Given the description of an element on the screen output the (x, y) to click on. 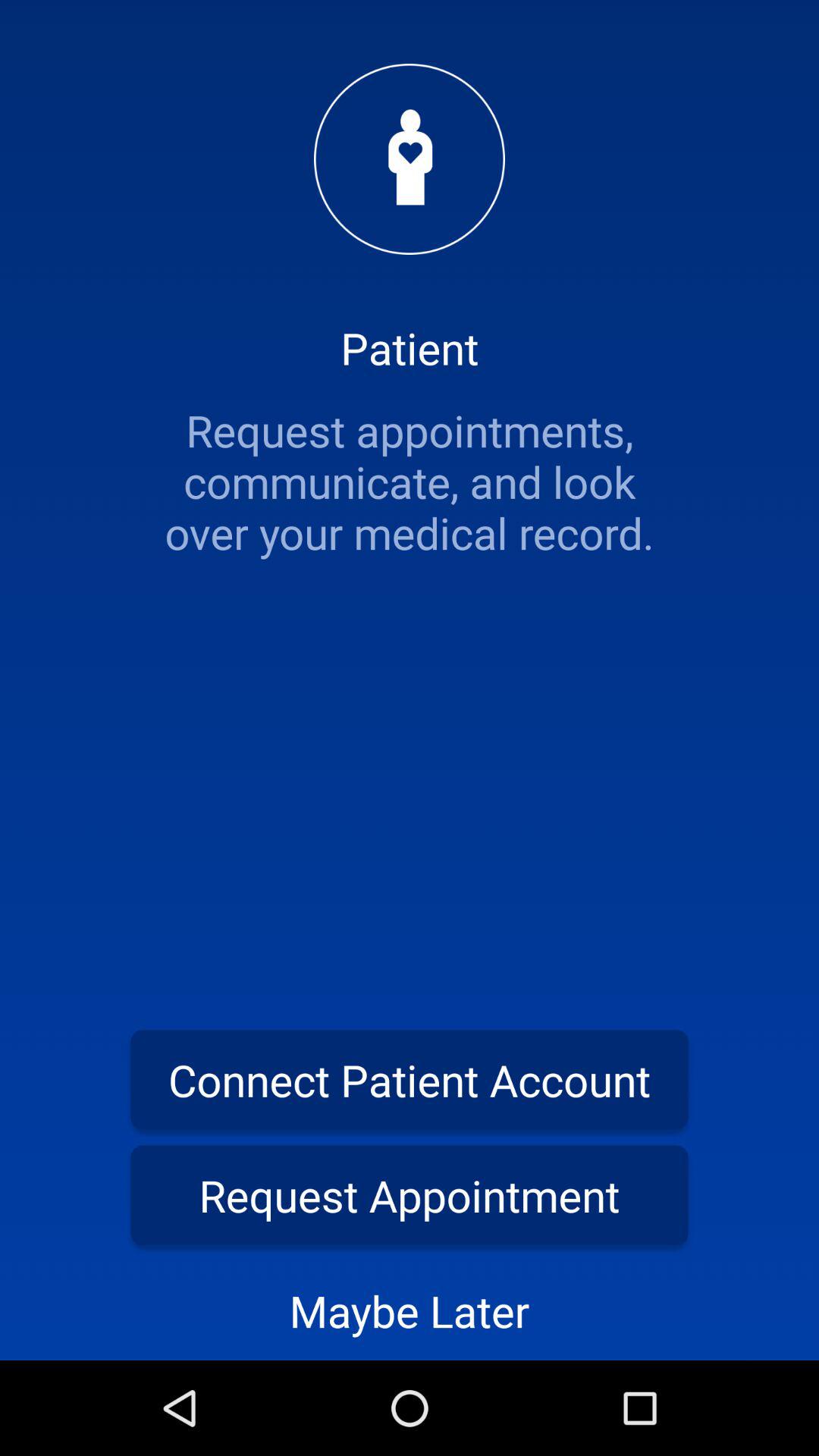
open icon above maybe later (409, 1194)
